Given the description of an element on the screen output the (x, y) to click on. 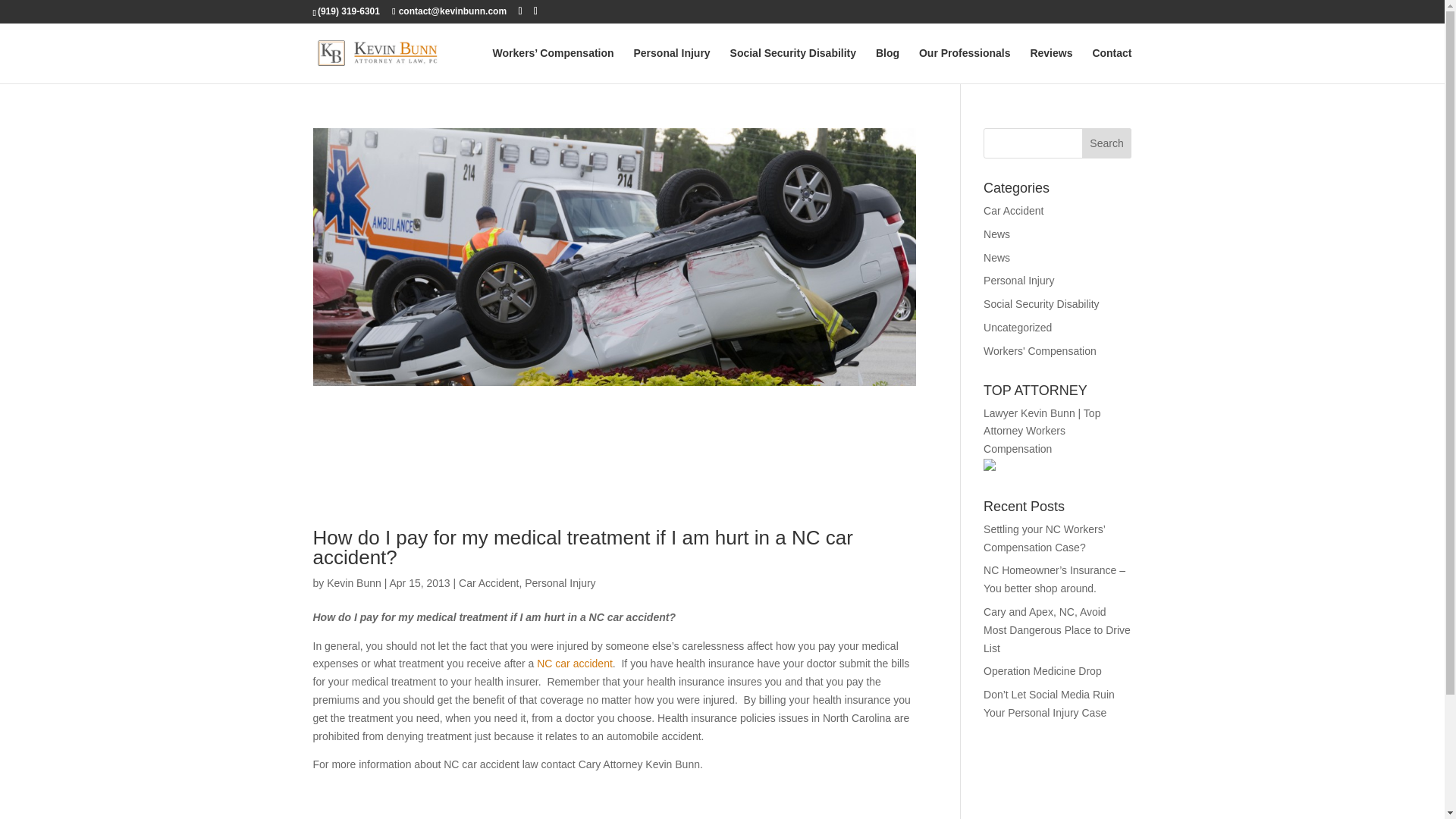
Kevin Bunn (353, 582)
Social Security Disability (1041, 304)
Uncategorized (1017, 327)
Workers' Compensation (1040, 350)
News (997, 234)
Reviews (1050, 65)
Personal Injury (1019, 280)
Search (1106, 142)
Operation Medicine Drop (1043, 671)
Social Security Disability (793, 65)
